Given the description of an element on the screen output the (x, y) to click on. 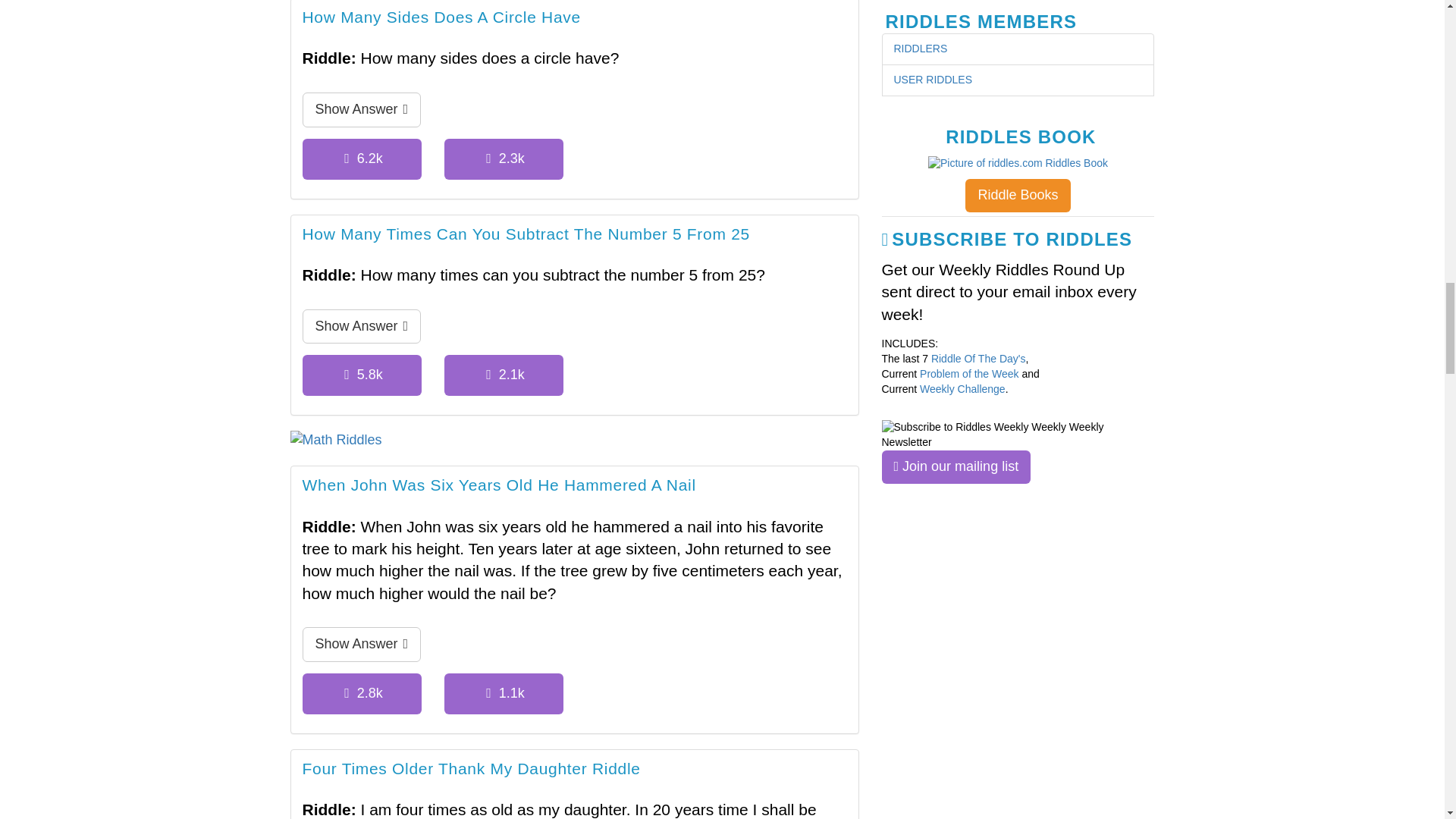
Show Answer (360, 109)
How Many Sides Does A Circle Have (440, 19)
Math Riddles (574, 440)
How Many Times Can You Subtract The Number 5 From 25 (525, 235)
Show Answer (360, 326)
